Given the description of an element on the screen output the (x, y) to click on. 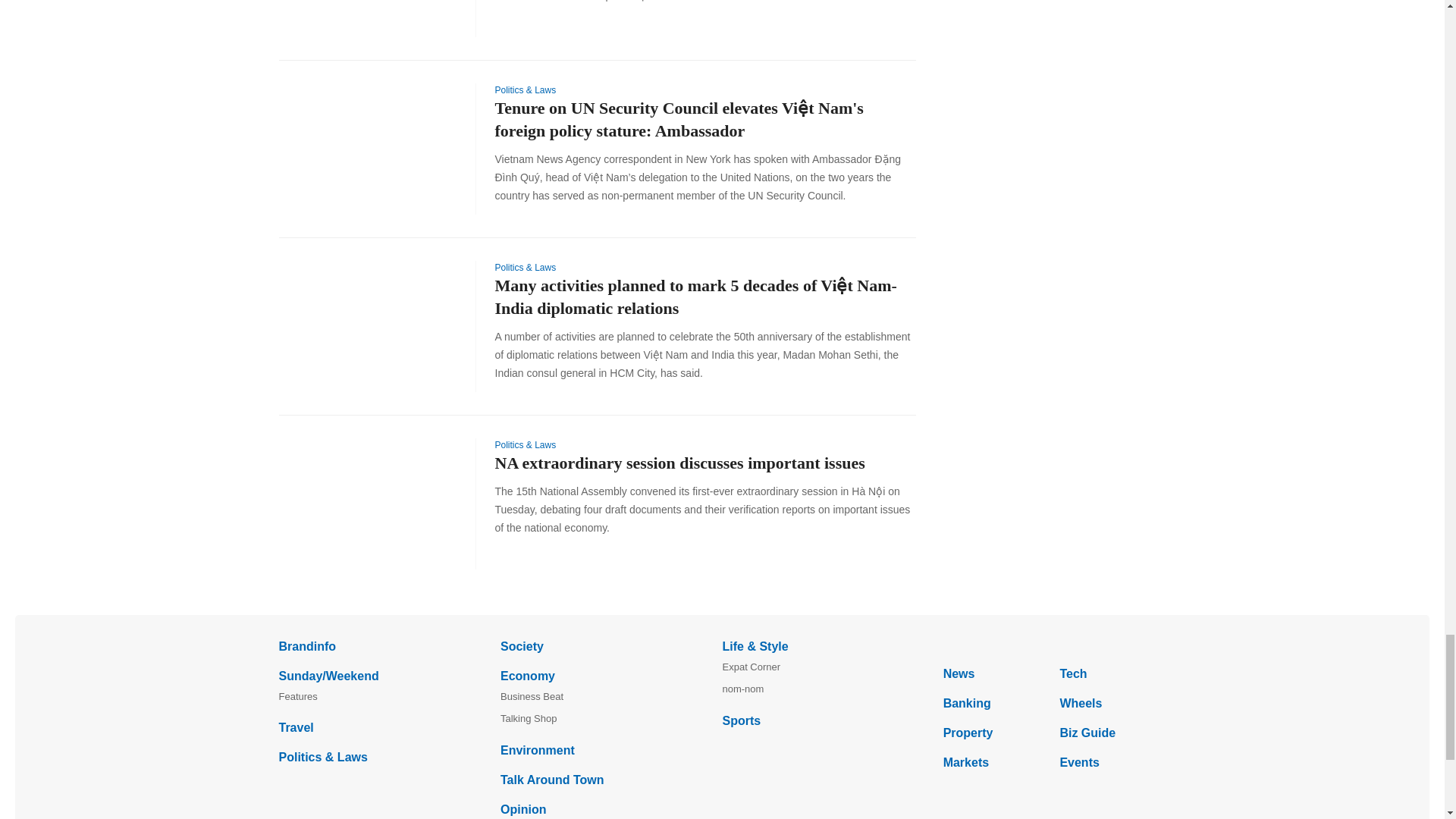
bizhub (1054, 645)
